Given the description of an element on the screen output the (x, y) to click on. 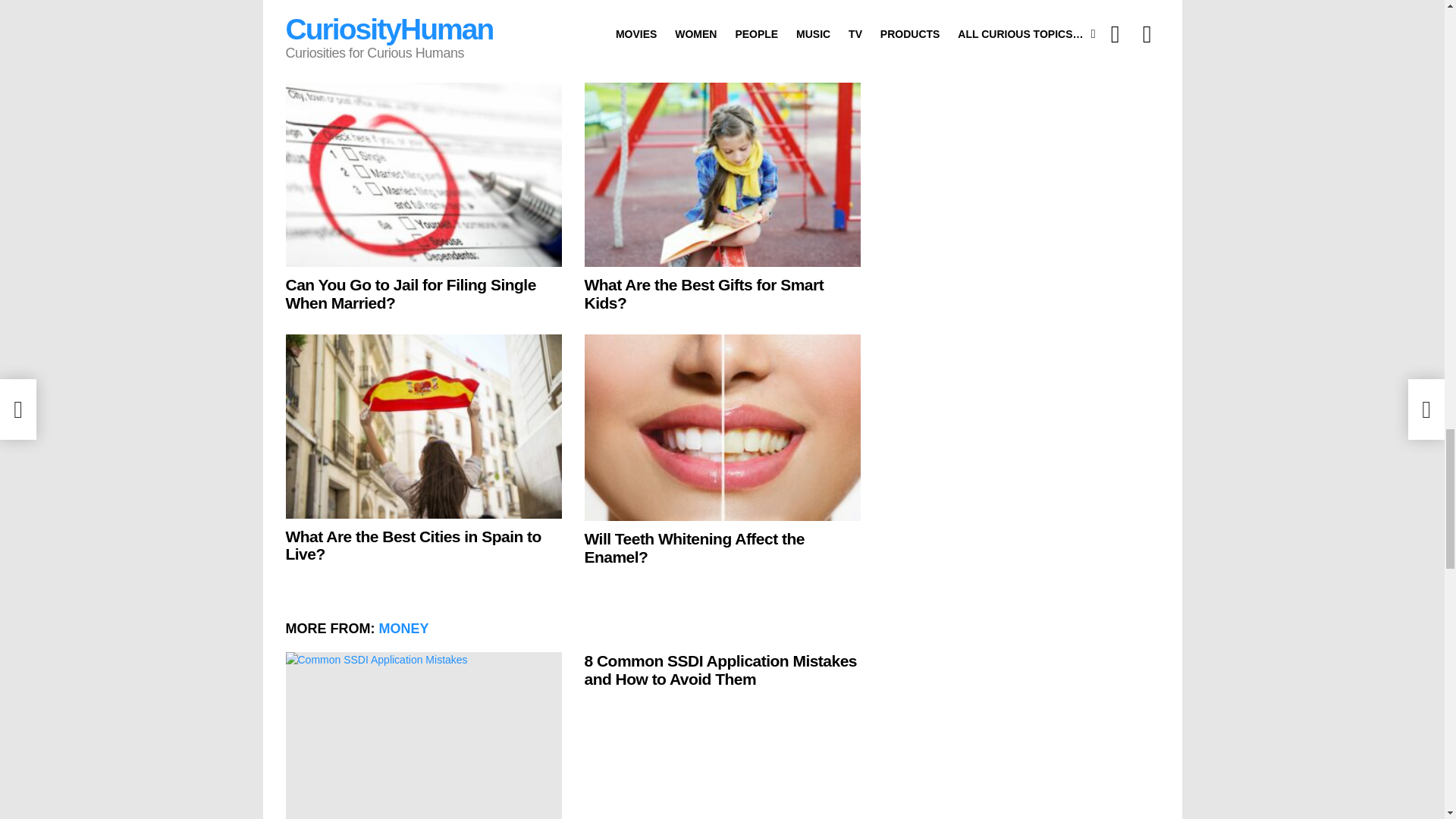
Will Teeth Whitening Affect the Enamel? (721, 427)
What Are the Best Cities in Spain to Live? (422, 426)
What to Look for When Shopping for a Small Hot Tub (721, 7)
What Are the Best Gifts for Smart Kids? (721, 174)
Can You Go to Jail for Filing Single When Married? (422, 174)
8 Common SSDI Application Mistakes and How to Avoid Them (422, 735)
